Given the description of an element on the screen output the (x, y) to click on. 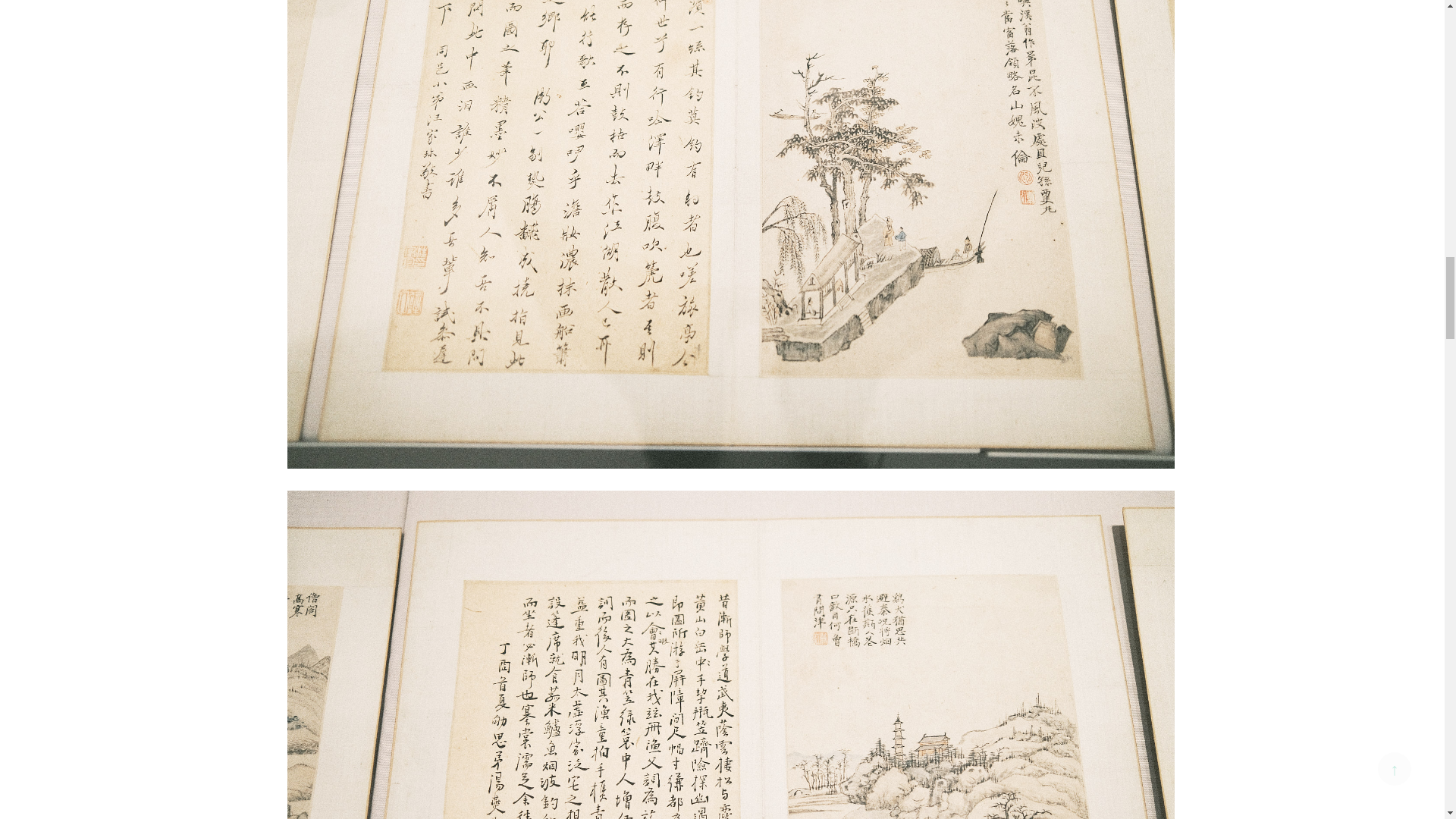
Landscapes by Hongren. (729, 783)
Landscapes by Hongren. (729, 171)
